Given the description of an element on the screen output the (x, y) to click on. 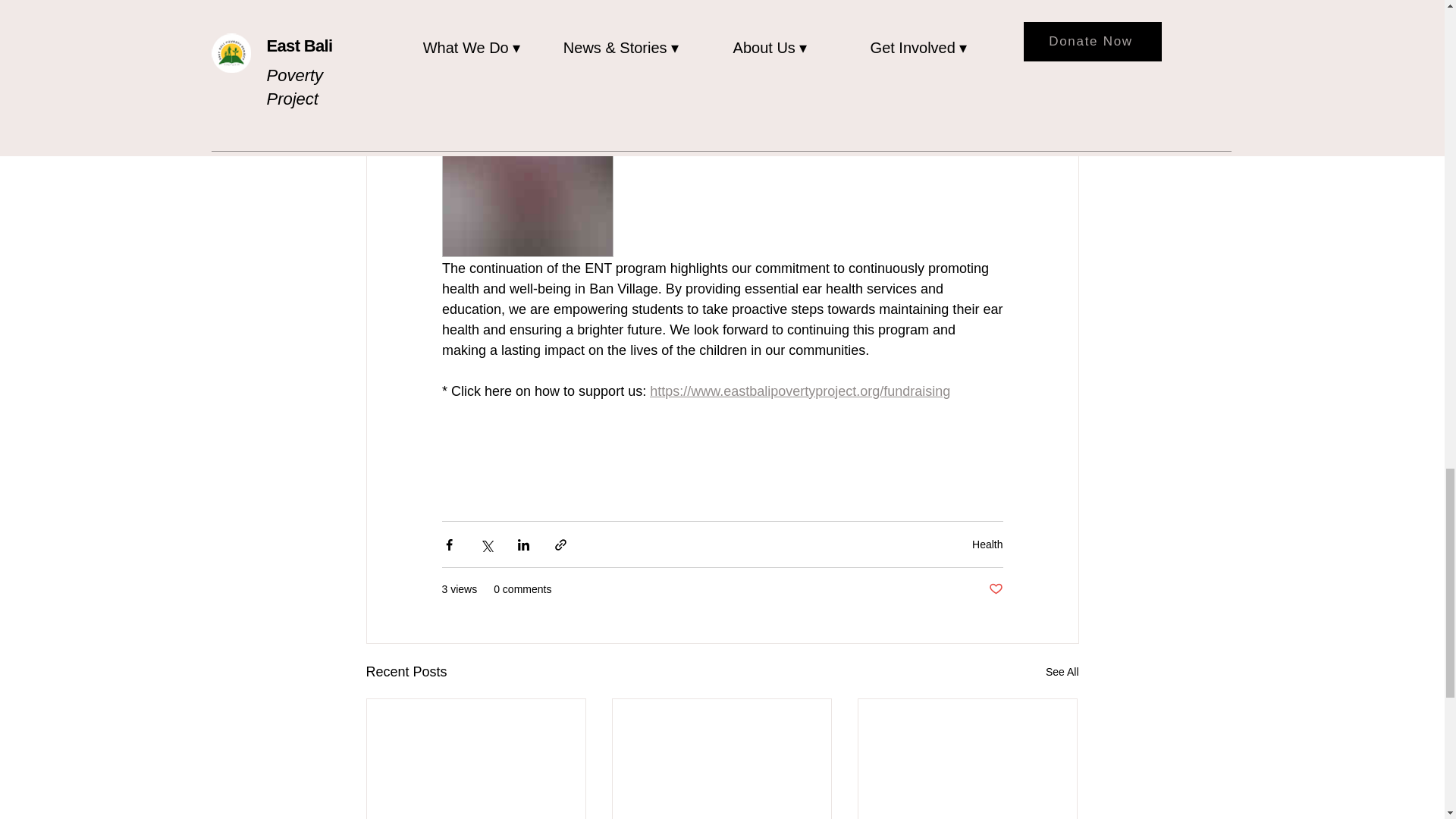
Post not marked as liked (995, 589)
Health (987, 544)
See All (1061, 671)
